Given the description of an element on the screen output the (x, y) to click on. 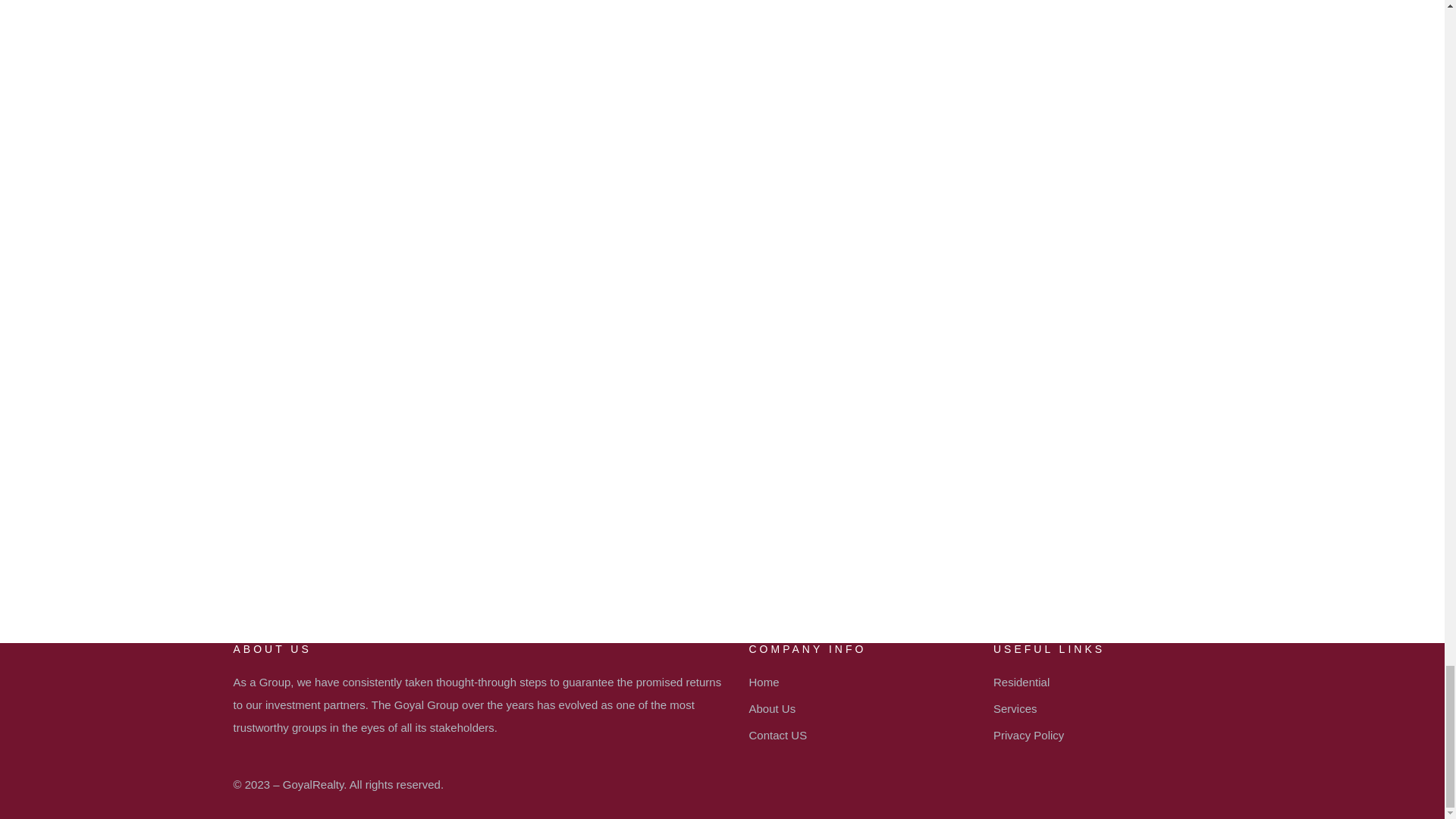
Home (855, 681)
